Given the description of an element on the screen output the (x, y) to click on. 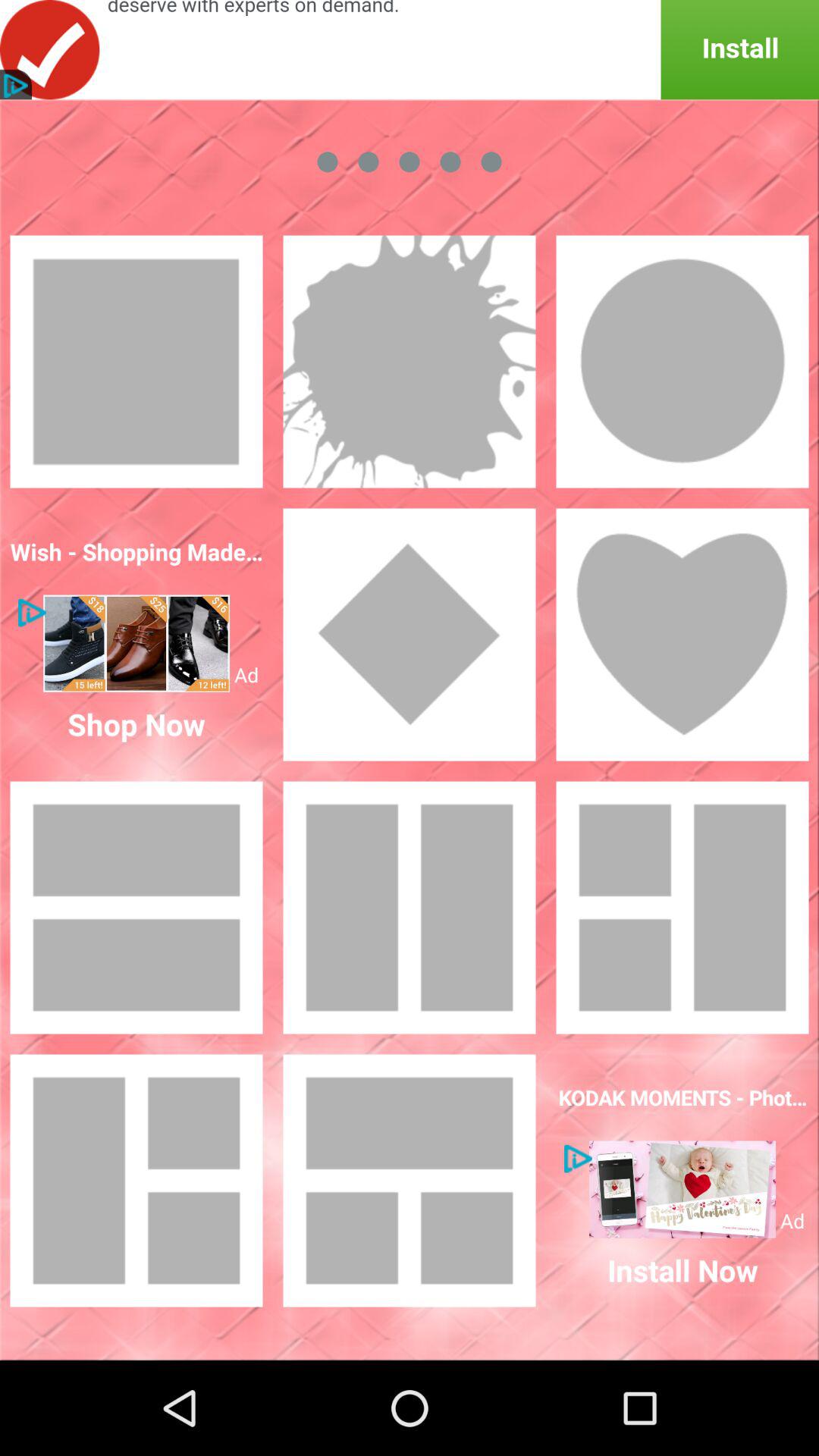
select the squre option (136, 361)
